Given the description of an element on the screen output the (x, y) to click on. 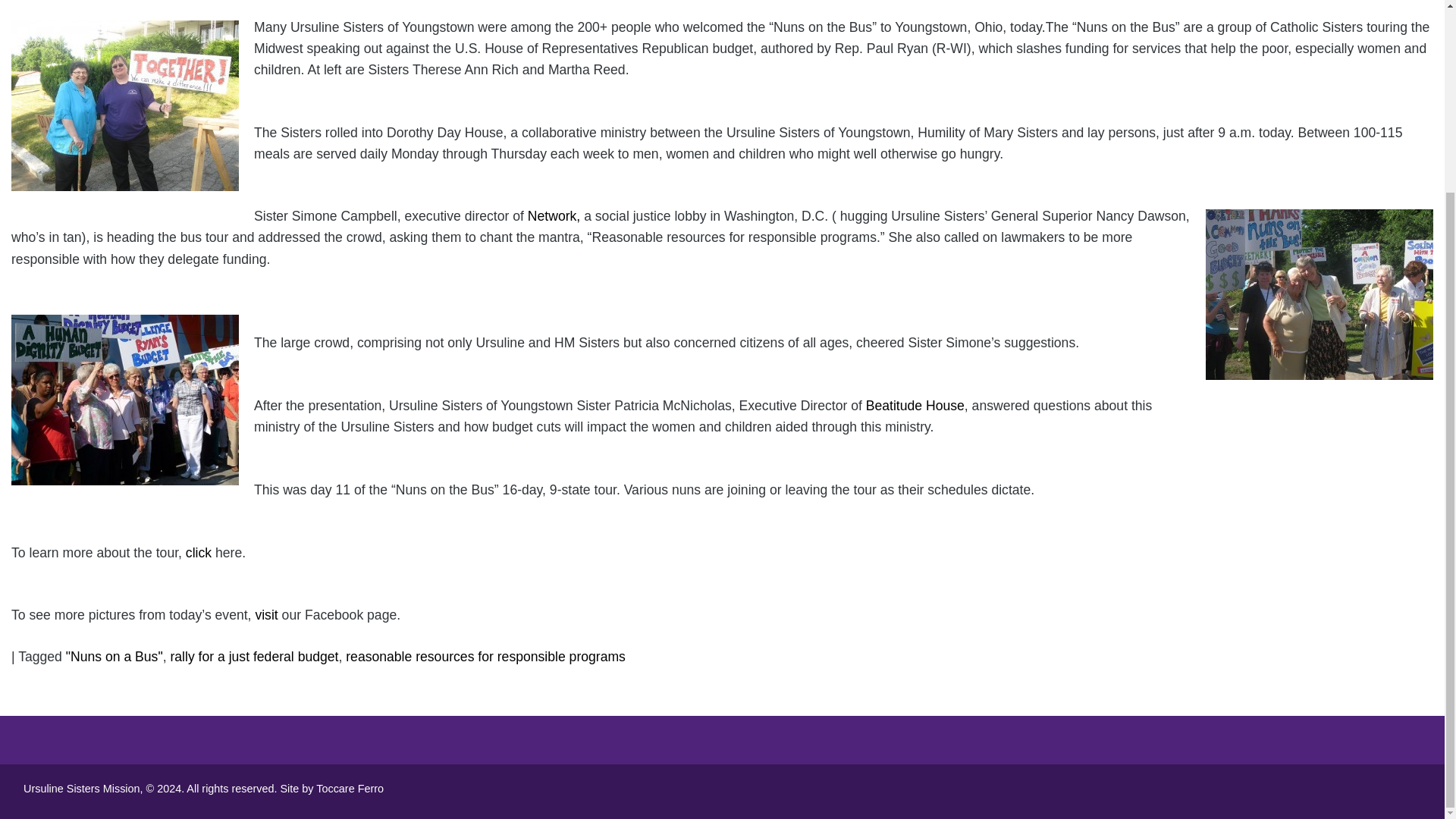
Network, (551, 215)
Beatitude House (914, 405)
nunsbusgroup (124, 399)
nunsbustreemartha (124, 105)
nunsbusnancysimone (1318, 294)
